Given the description of an element on the screen output the (x, y) to click on. 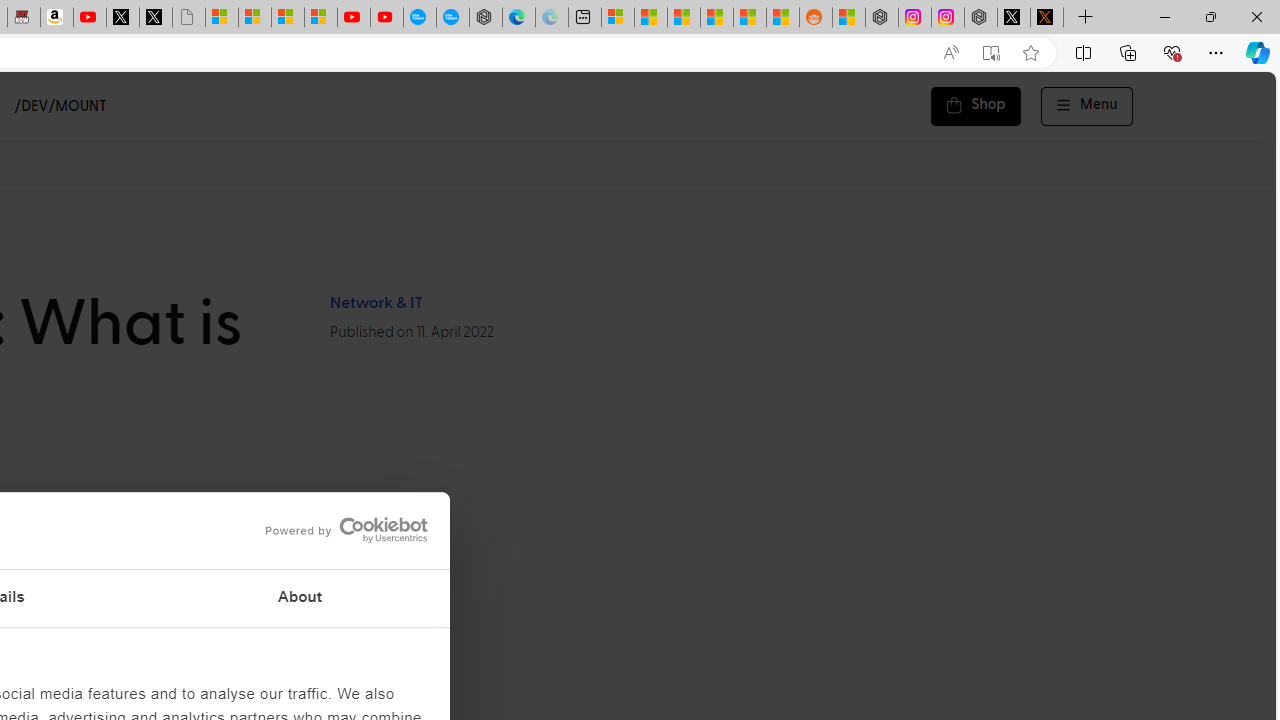
Powered by Cookiebot (345, 530)
Shanghai, China Weather trends | Microsoft Weather (782, 17)
Untitled (188, 17)
YouTube Kids - An App Created for Kids to Explore Content (387, 17)
Gloom - YouTube (353, 17)
Shanghai, China weather forecast | Microsoft Weather (650, 17)
